Given the description of an element on the screen output the (x, y) to click on. 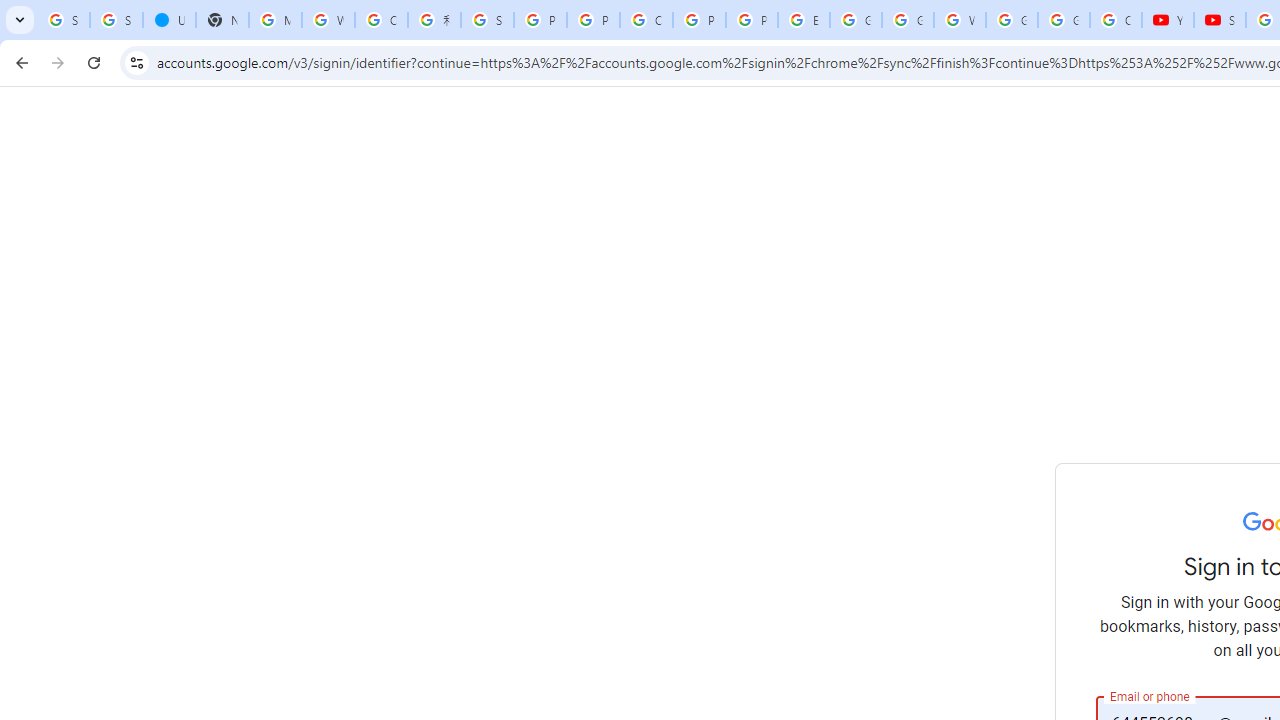
Sign in - Google Accounts (116, 20)
Sign in - Google Accounts (487, 20)
YouTube (1167, 20)
Who is my administrator? - Google Account Help (328, 20)
Create your Google Account (381, 20)
